Given the description of an element on the screen output the (x, y) to click on. 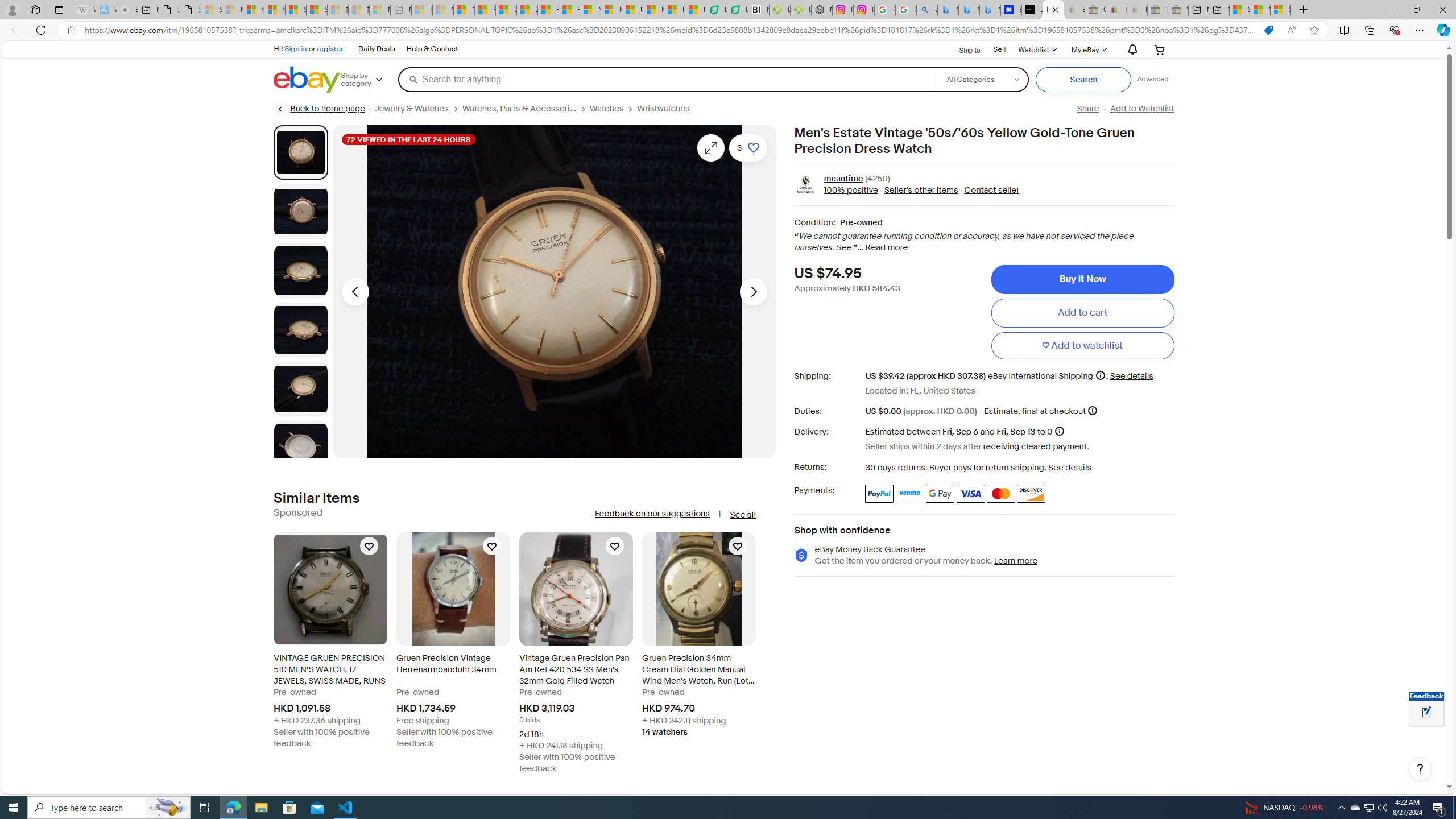
Watches (613, 108)
Search for anything (666, 78)
  Contact seller (988, 190)
Picture 4 of 8 (300, 329)
100% positive (850, 190)
Back to home page (319, 109)
Nordace - Nordace Edin Collection (821, 9)
Expand Cart (1159, 49)
  Seller's other items (917, 190)
Help & Contact (431, 49)
